Given the description of an element on the screen output the (x, y) to click on. 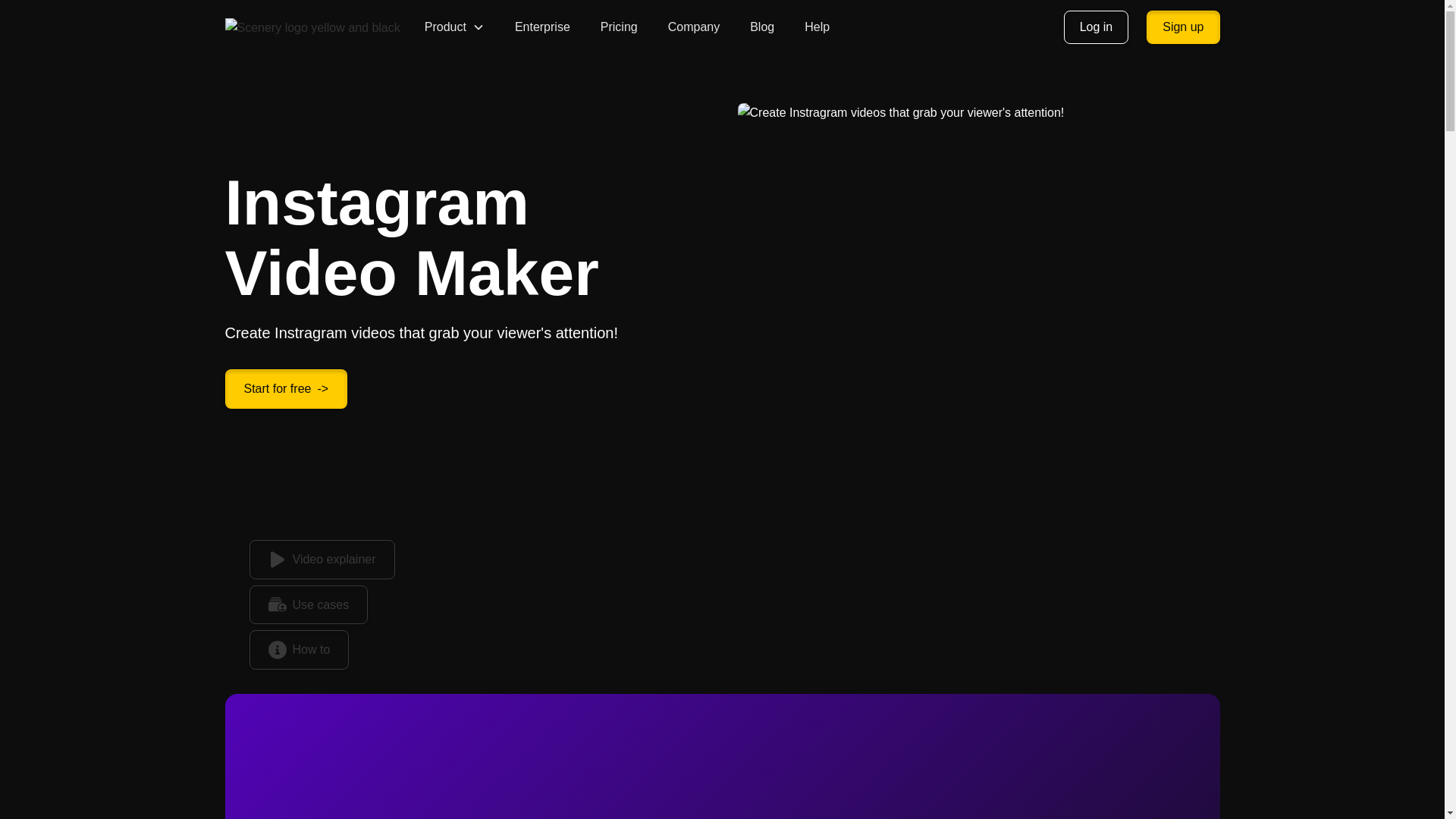
Sign up (1183, 27)
Use cases (308, 604)
Video explainer (321, 559)
How to (298, 649)
Enterprise (542, 26)
Blog (762, 26)
Log in (1096, 27)
Help (816, 26)
YouTube embed (721, 768)
Company (694, 26)
Pricing (618, 26)
